Given the description of an element on the screen output the (x, y) to click on. 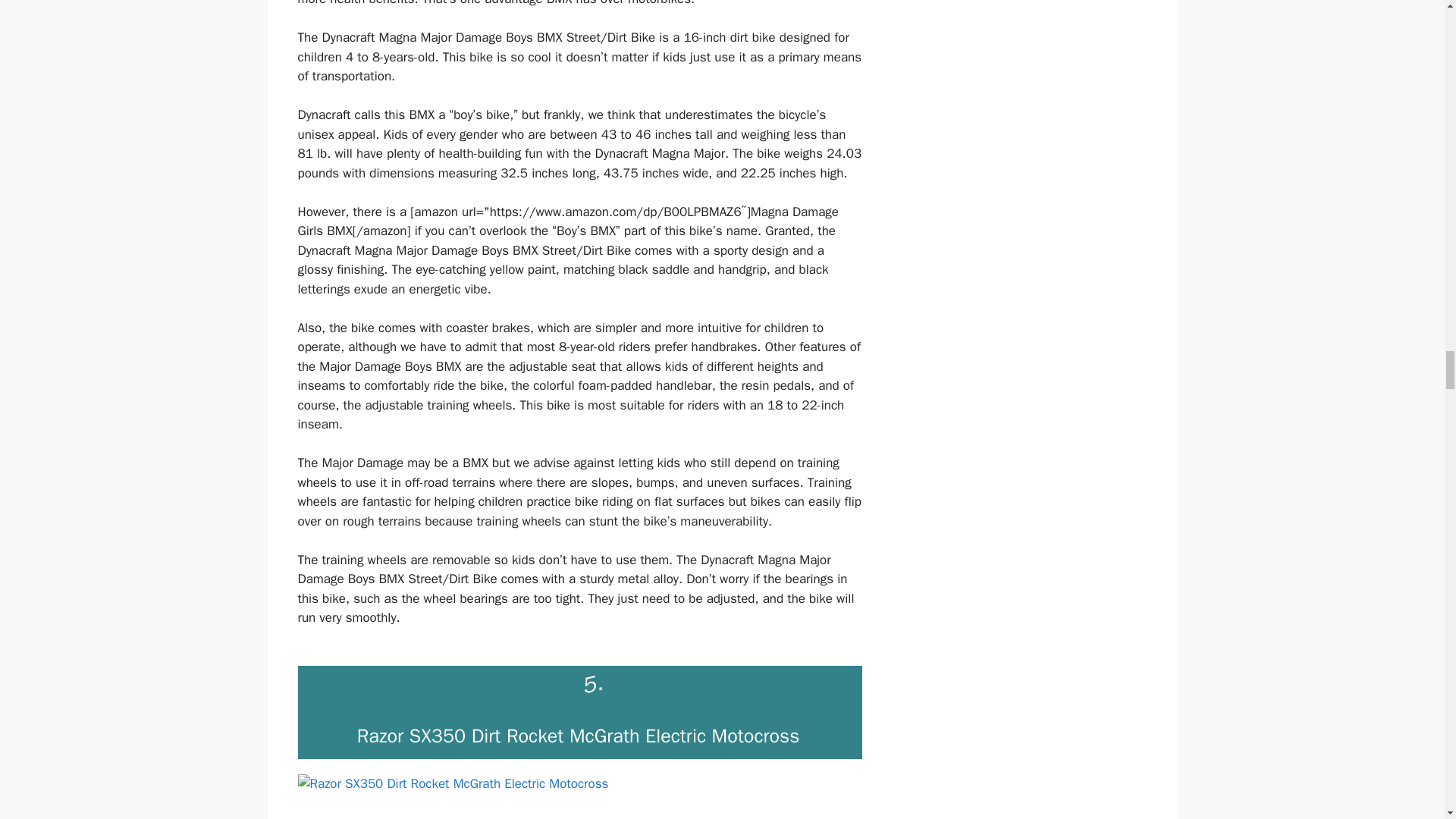
Razor SX350 Dirt Rocket McGrath Electric Motocross (577, 735)
